Given the description of an element on the screen output the (x, y) to click on. 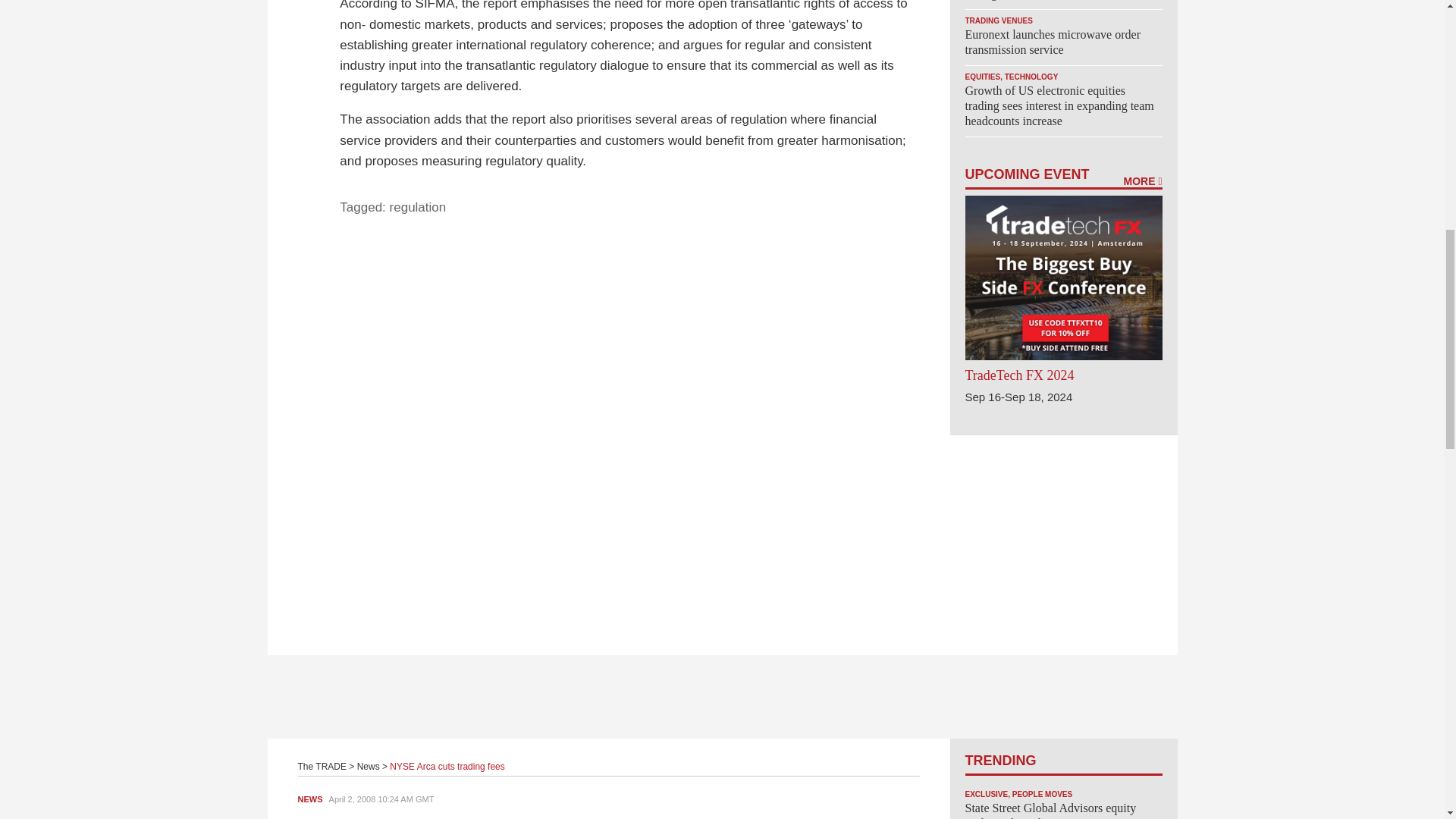
3rd party ad content (721, 696)
3rd party ad content (1062, 529)
Go to the News Category archives. (368, 766)
Go to The TRADE. (321, 766)
